Given the description of an element on the screen output the (x, y) to click on. 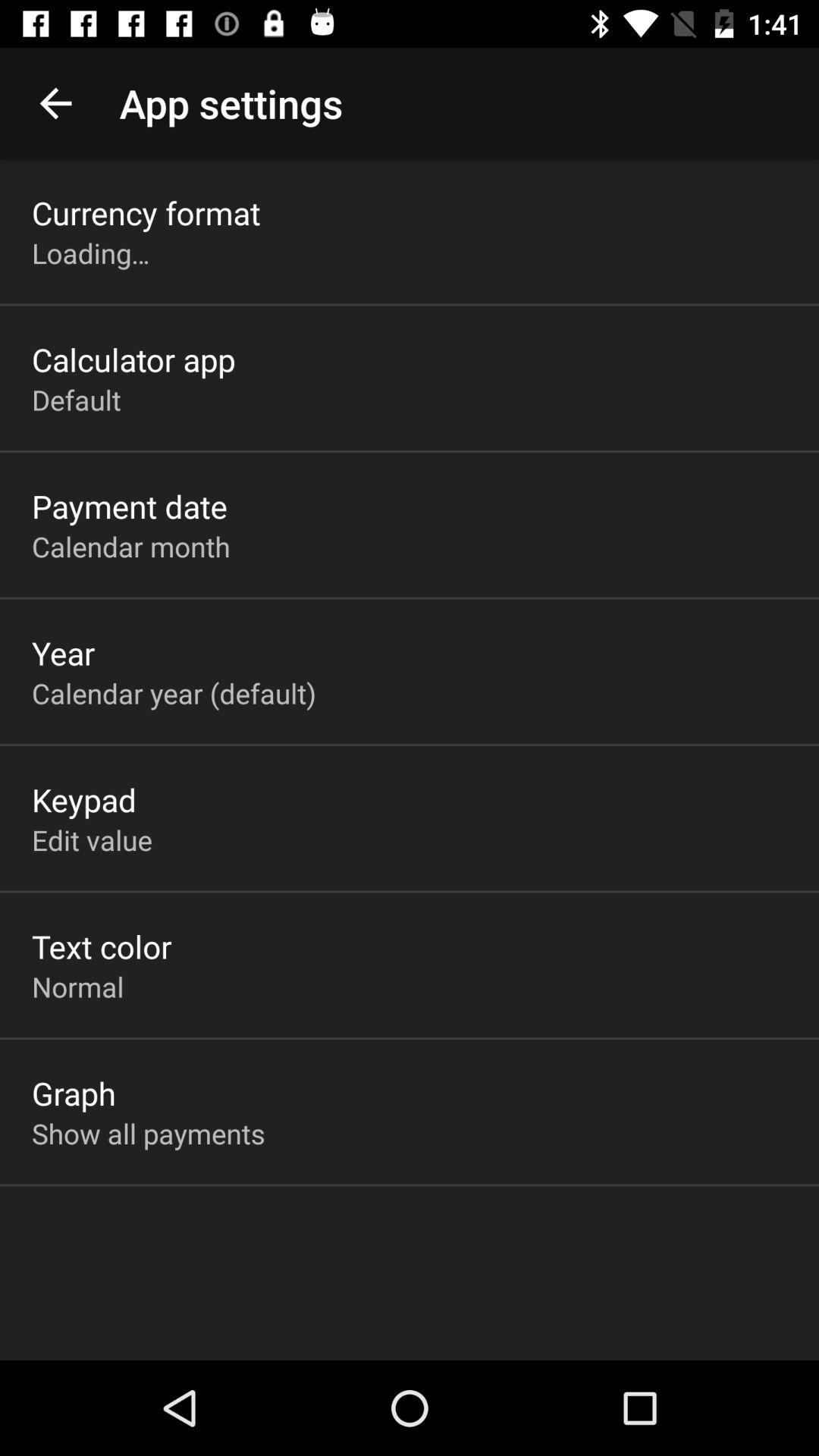
select the app below the normal icon (73, 1092)
